Given the description of an element on the screen output the (x, y) to click on. 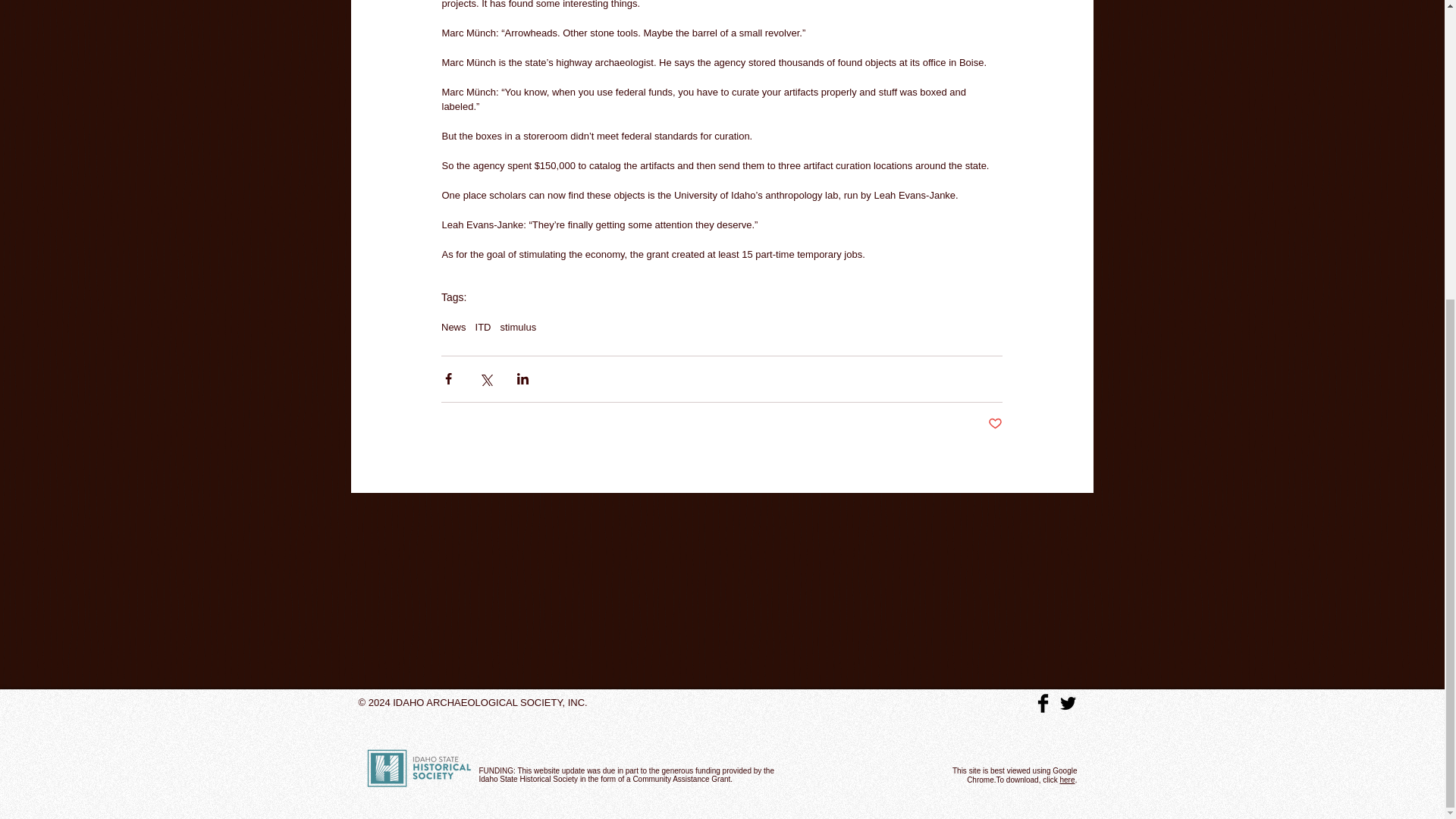
ITD (484, 326)
stimulus (517, 326)
News (453, 326)
logo.png (418, 767)
Post not marked as liked (995, 424)
here (1066, 779)
